Given the description of an element on the screen output the (x, y) to click on. 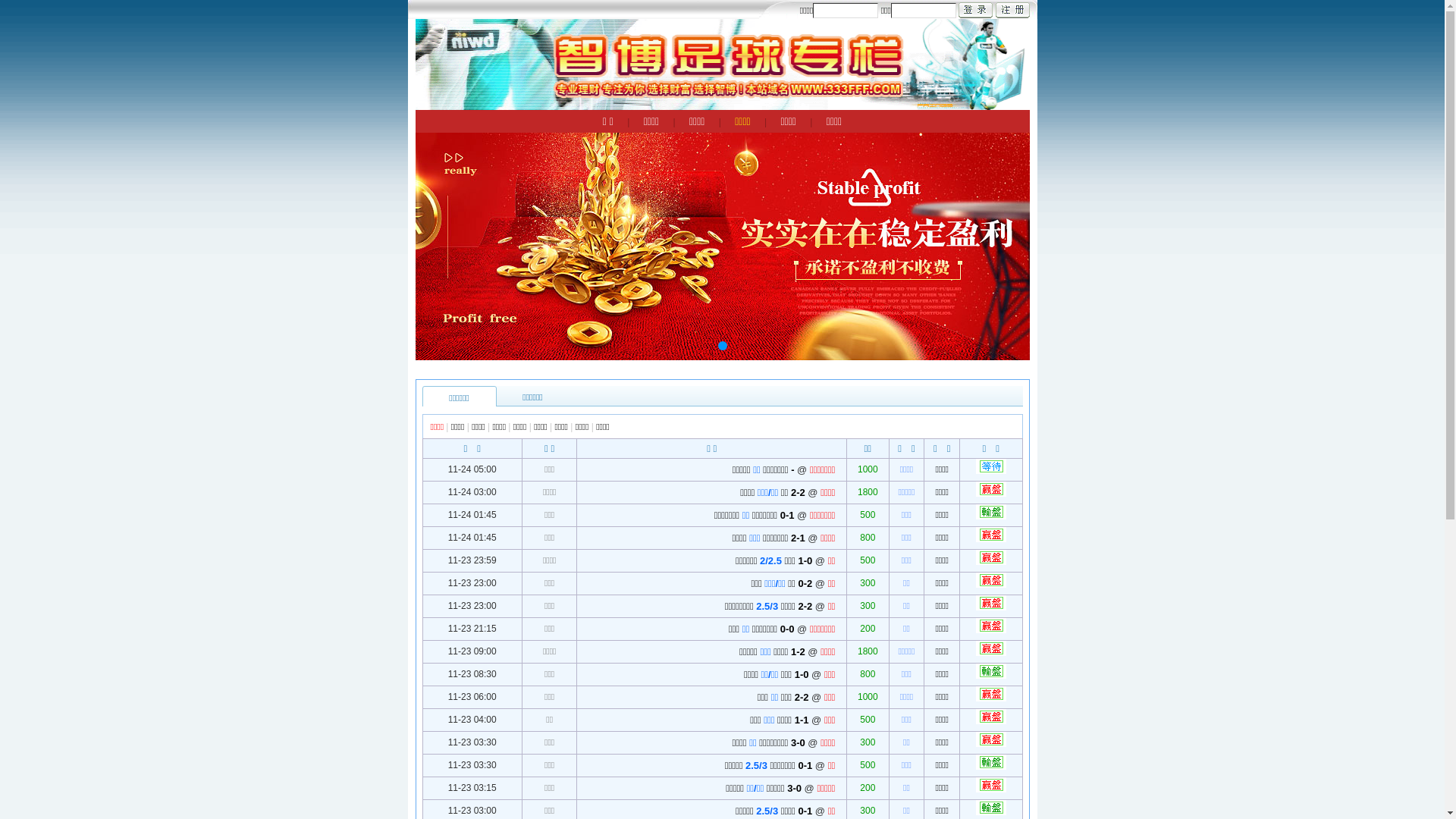
  Element type: text (975, 10)
  Element type: text (1011, 10)
